Given the description of an element on the screen output the (x, y) to click on. 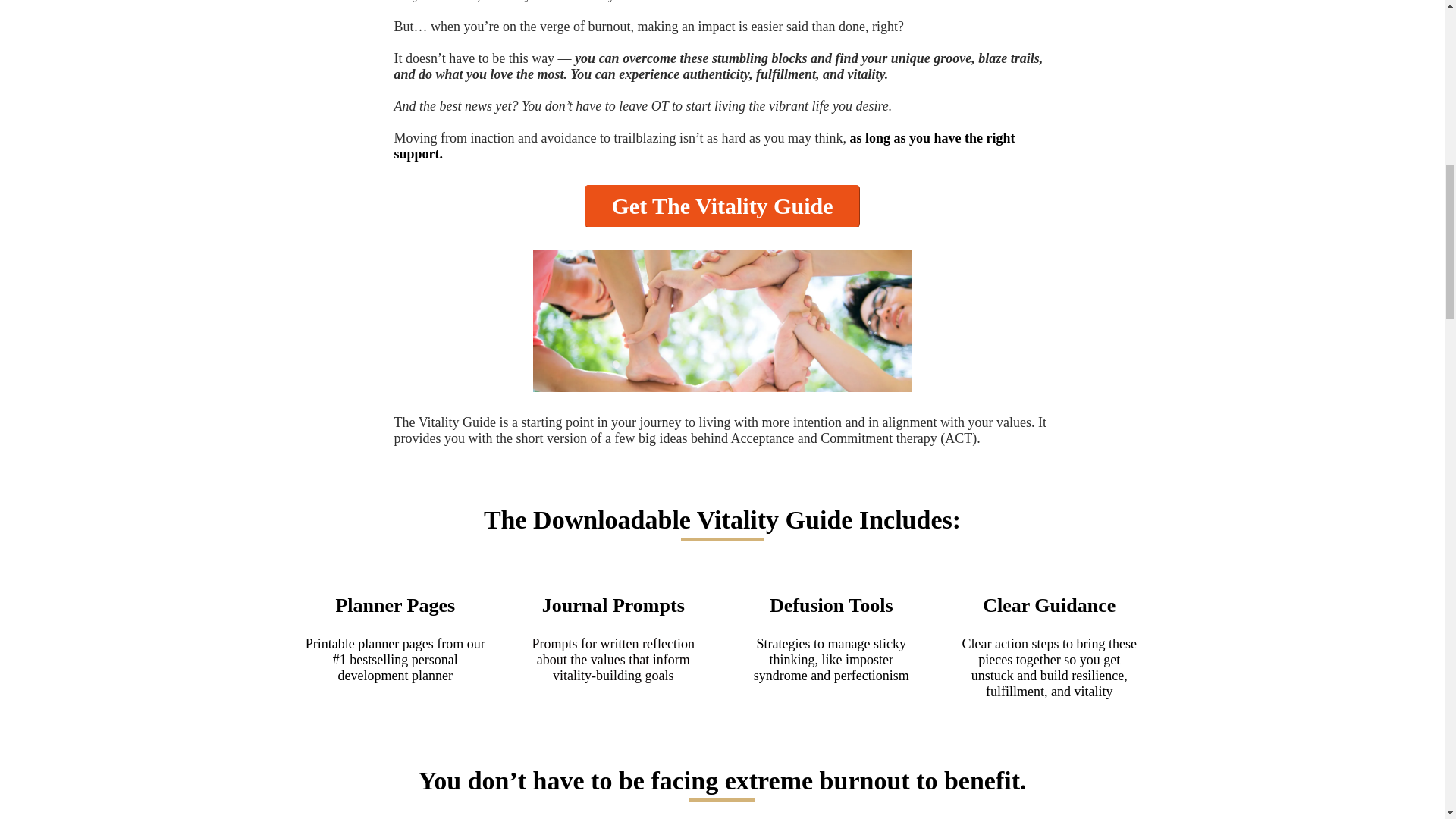
Get The Vitality Guide (722, 206)
